Given the description of an element on the screen output the (x, y) to click on. 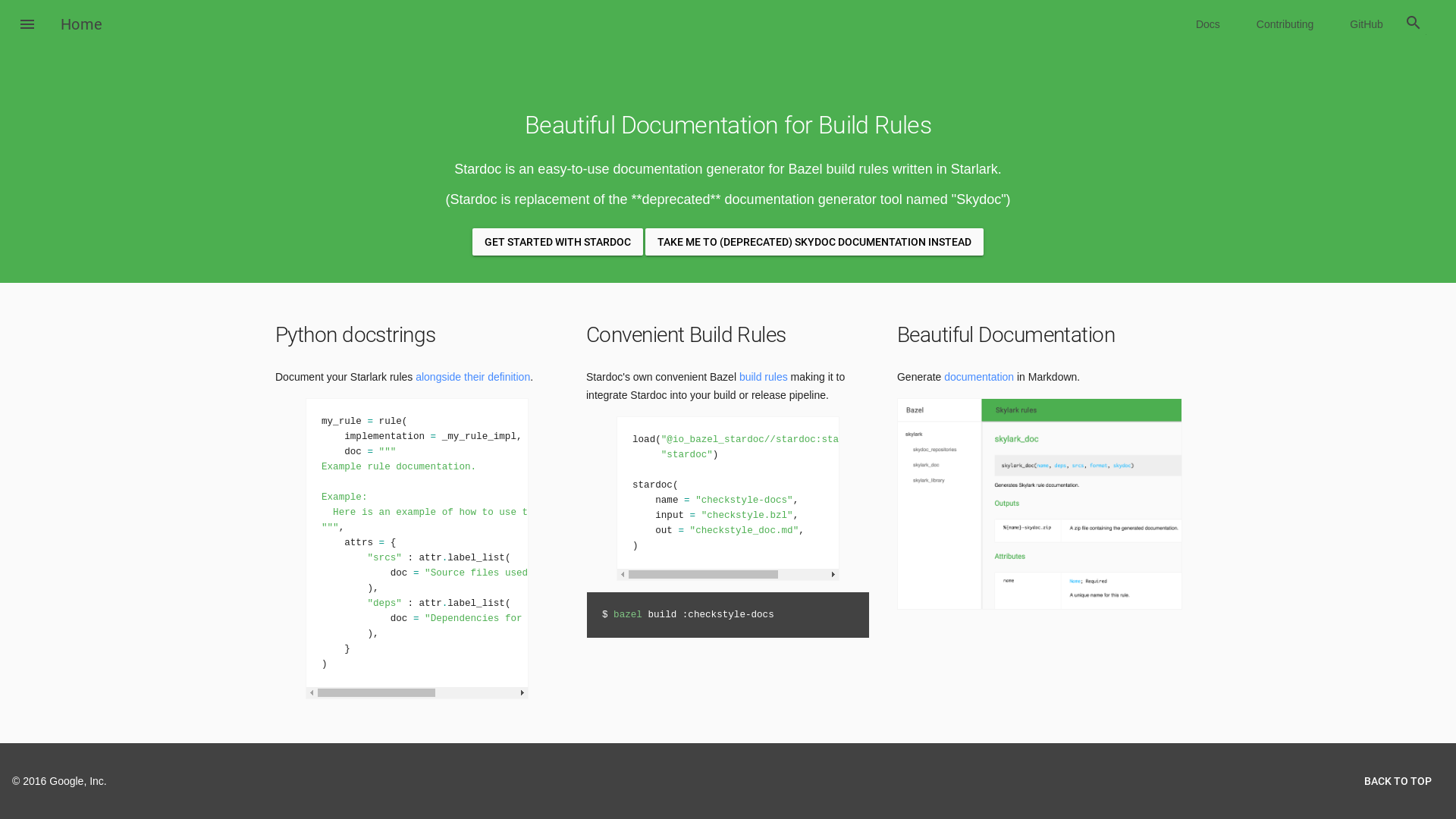
GET STARTED WITH STARDOC Element type: text (557, 241)
GitHub Element type: text (1366, 24)
TAKE ME TO (DEPRECATED) SKYDOC DOCUMENTATION INSTEAD Element type: text (814, 241)
Docs Element type: text (1207, 24)
Contributing Element type: text (1285, 24)
documentation Element type: text (978, 376)
build rules Element type: text (763, 376)
alongside their definition Element type: text (472, 376)
BACK TO TOP Element type: text (1397, 780)
